Given the description of an element on the screen output the (x, y) to click on. 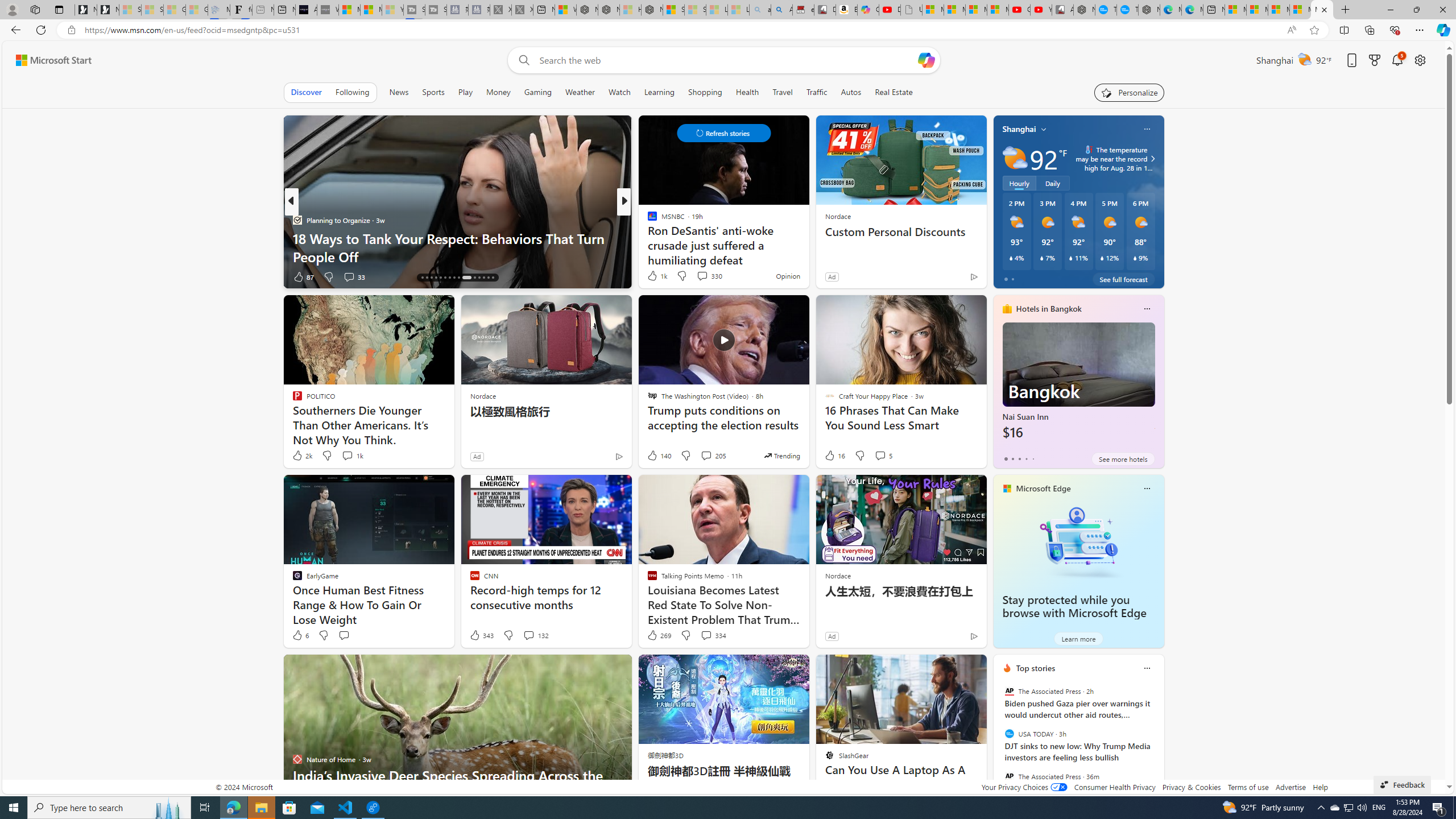
tab-2 (1019, 458)
USA TODAY (1008, 733)
Nordace (837, 574)
YouTube Kids - An App Created for Kids to Explore Content (1041, 9)
hotels-header-icon (1006, 308)
X - Sleeping (522, 9)
AutomationID: tab-20 (440, 277)
View comments 330 Comment (708, 275)
Shanghai (1018, 128)
Collections (1369, 29)
App bar (728, 29)
